Given the description of an element on the screen output the (x, y) to click on. 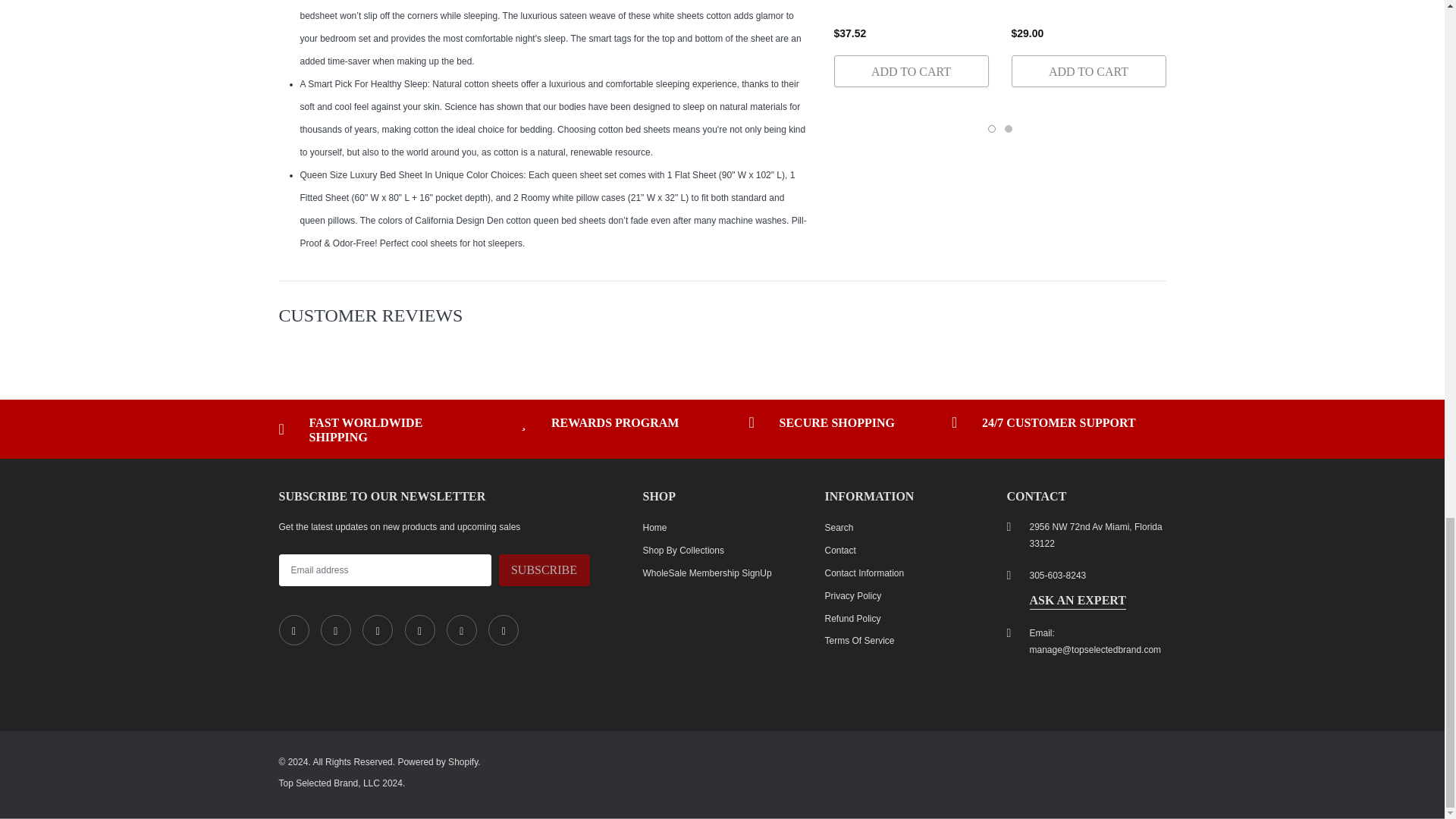
Subscribe (544, 570)
Instagram (377, 630)
Twitter (335, 630)
Pinterest (419, 630)
Facebook (293, 630)
Tumblr (461, 630)
